Given the description of an element on the screen output the (x, y) to click on. 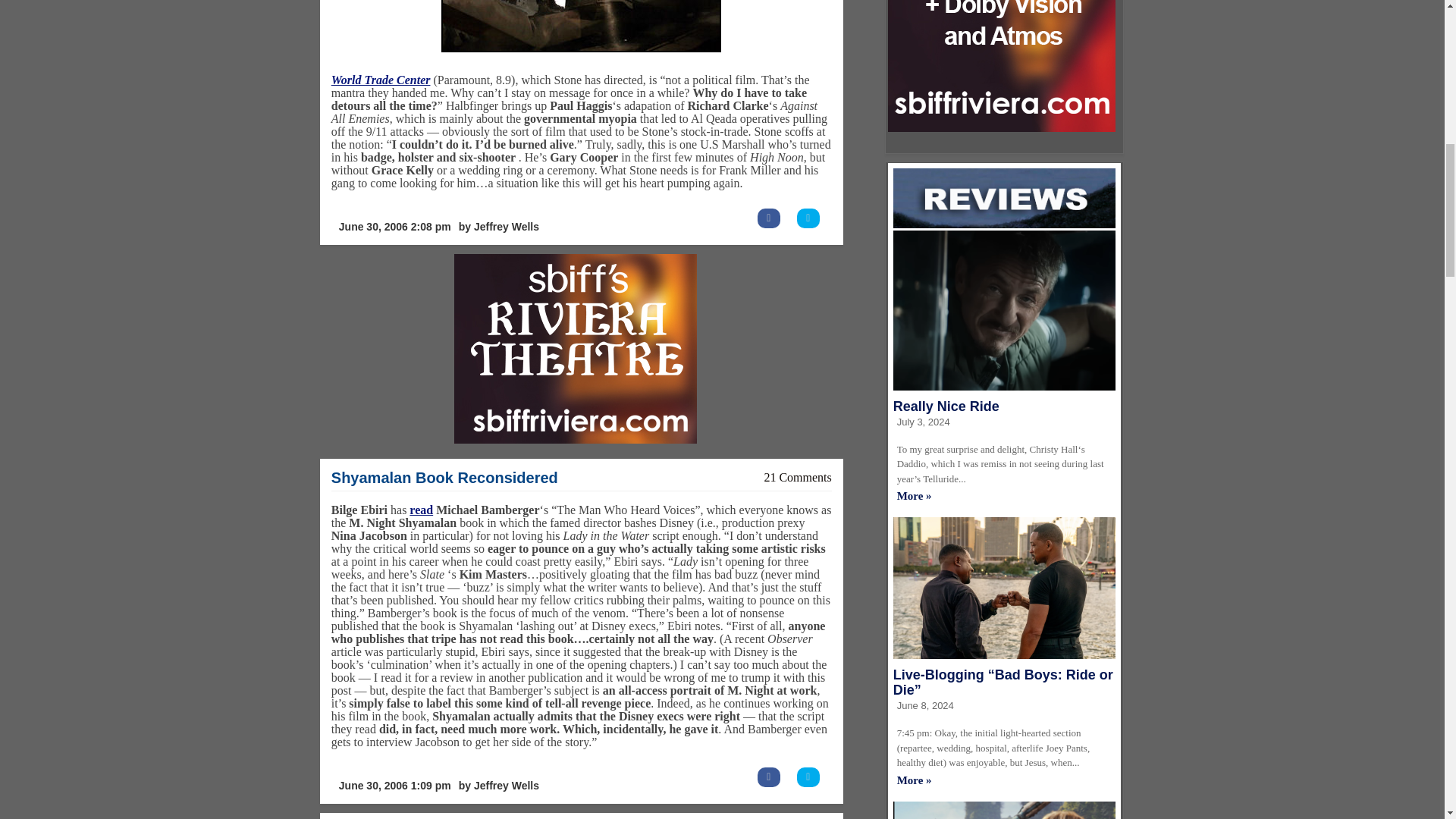
World Trade Center (380, 79)
Permanent Link to Shyamalan Book Reconsidered (444, 477)
